Given the description of an element on the screen output the (x, y) to click on. 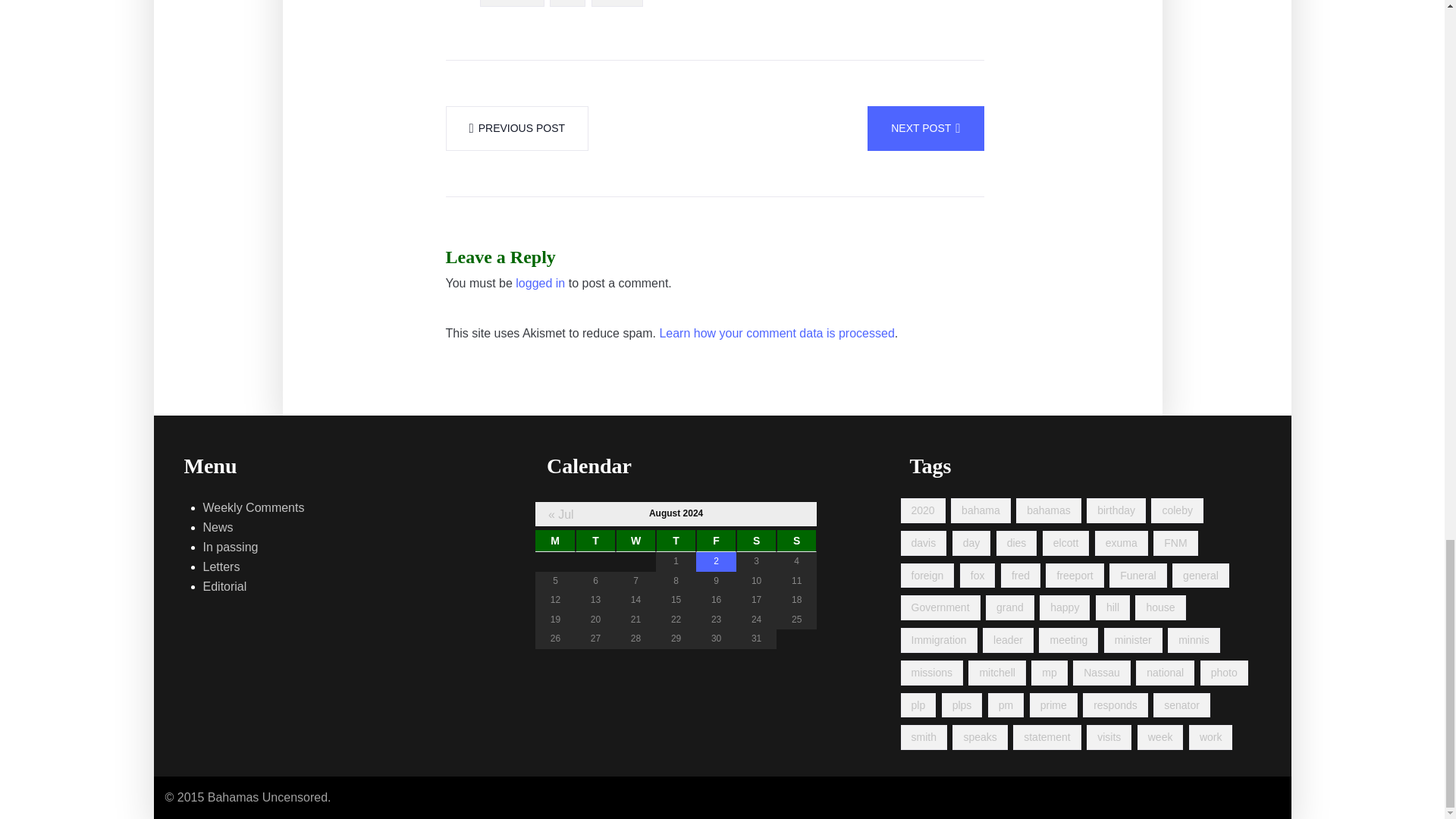
News (217, 527)
PREVIOUS POST (517, 128)
Learn how your comment data is processed (776, 333)
bahama (980, 510)
Monday (555, 540)
NEXT POST (925, 128)
minimum (512, 3)
logged in (539, 283)
wages (617, 3)
davis (924, 543)
Weekly Comments (253, 507)
Sunday (796, 540)
Tuesday (595, 540)
2020 (922, 510)
plp (567, 3)
